Given the description of an element on the screen output the (x, y) to click on. 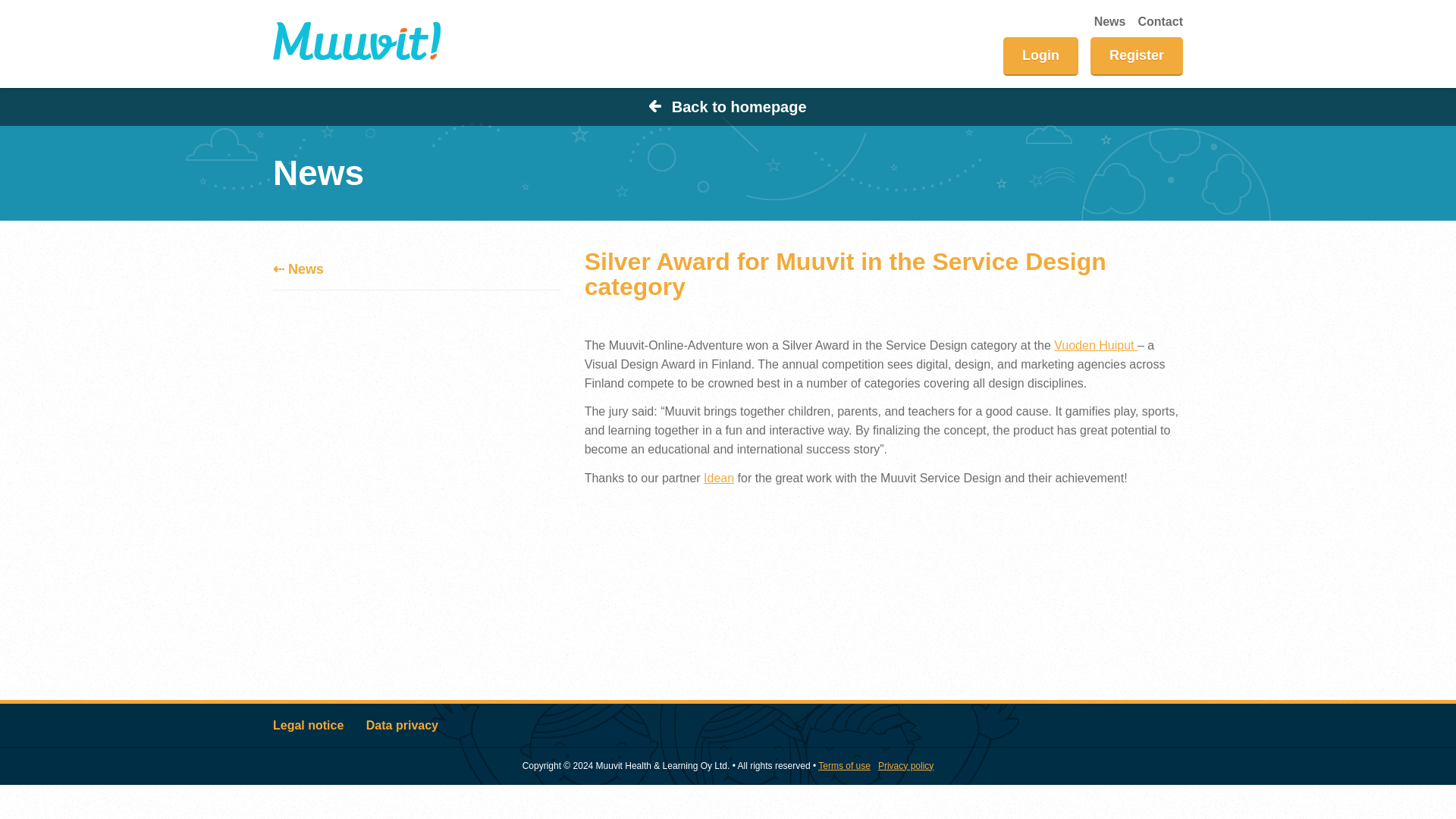
News (1109, 21)
Legal notice (308, 725)
Terms of use (844, 765)
Privacy policy (905, 765)
Contact (1159, 21)
Register (1136, 56)
Vuoden Huiput (1095, 345)
Login (1040, 56)
Data privacy (402, 725)
Idean (718, 477)
